Given the description of an element on the screen output the (x, y) to click on. 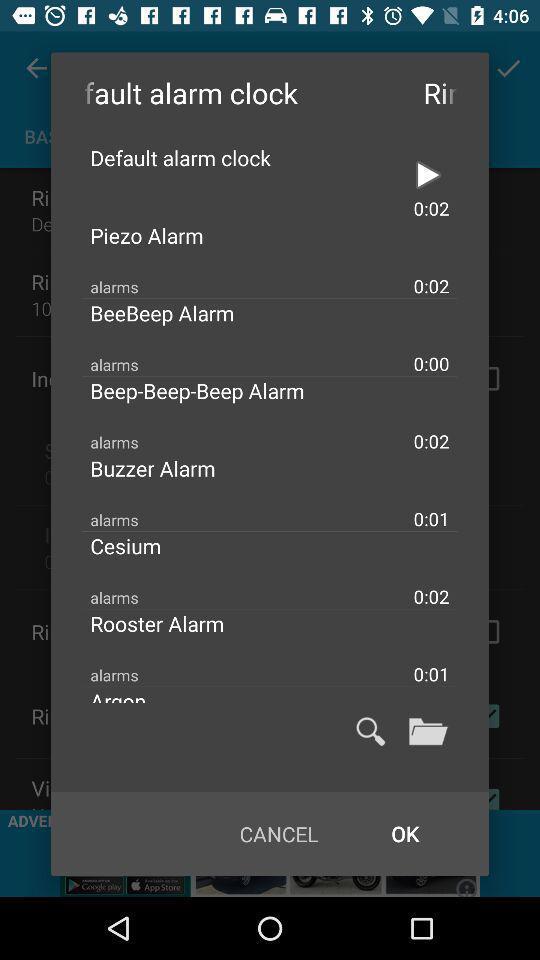
search option (370, 731)
